Given the description of an element on the screen output the (x, y) to click on. 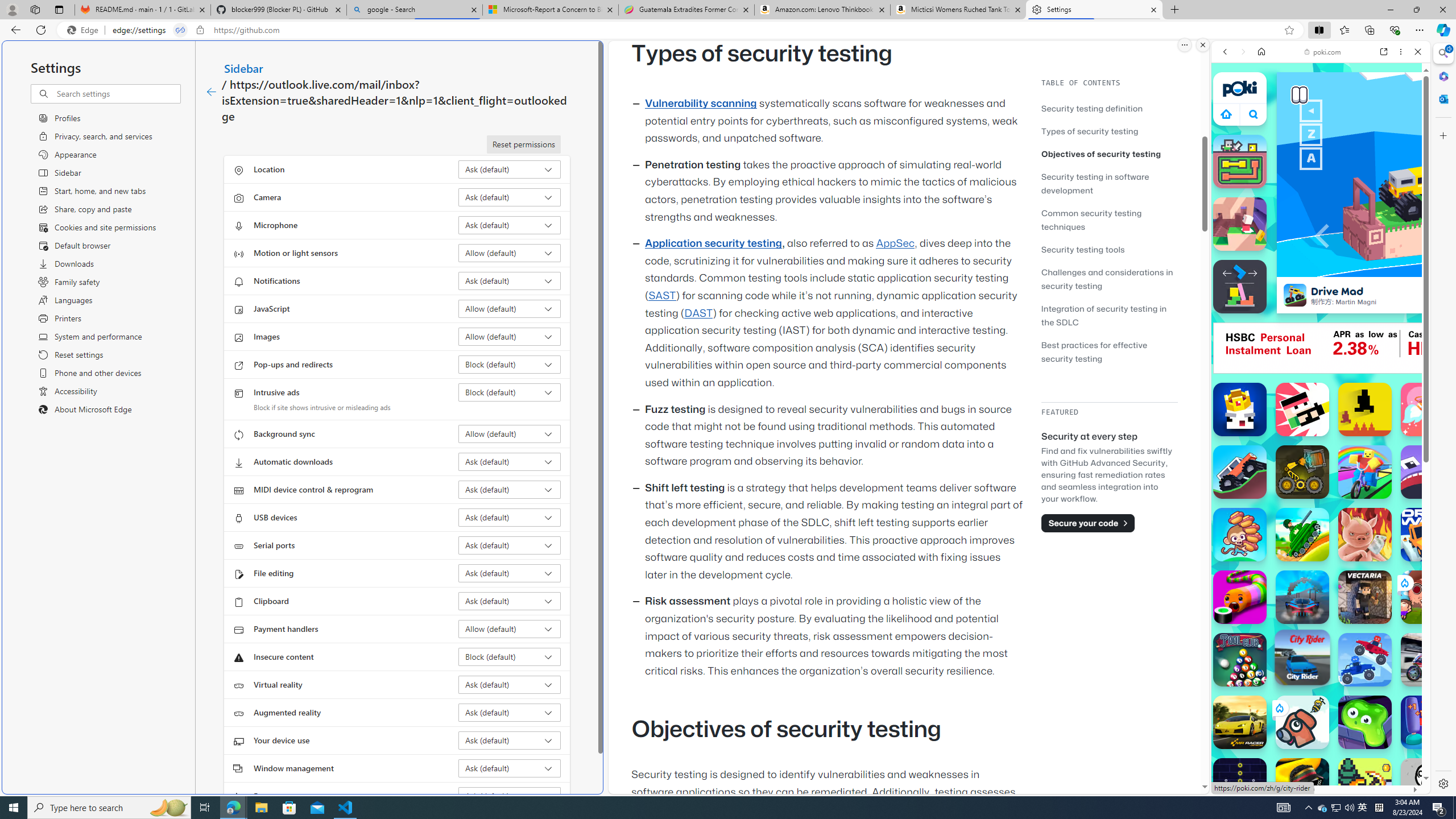
Automatic downloads Ask (default) (509, 461)
Class: rCs5cyEiqiTpYvt_VBCR (1279, 707)
Class: aprWdaSScyiJf4Jvmsx9 (1225, 113)
Hills of Steel Hills of Steel (1302, 534)
Vulnerability scanning (701, 103)
Combat Reloaded (1348, 574)
Rainbow Obby Rainbow Obby (1364, 471)
Super Tunnel Rush Super Tunnel Rush (1302, 597)
Show More Io Games (1390, 351)
DAST (698, 312)
Combat Reloaded Combat Reloaded poki.com (1349, 548)
